Given the description of an element on the screen output the (x, y) to click on. 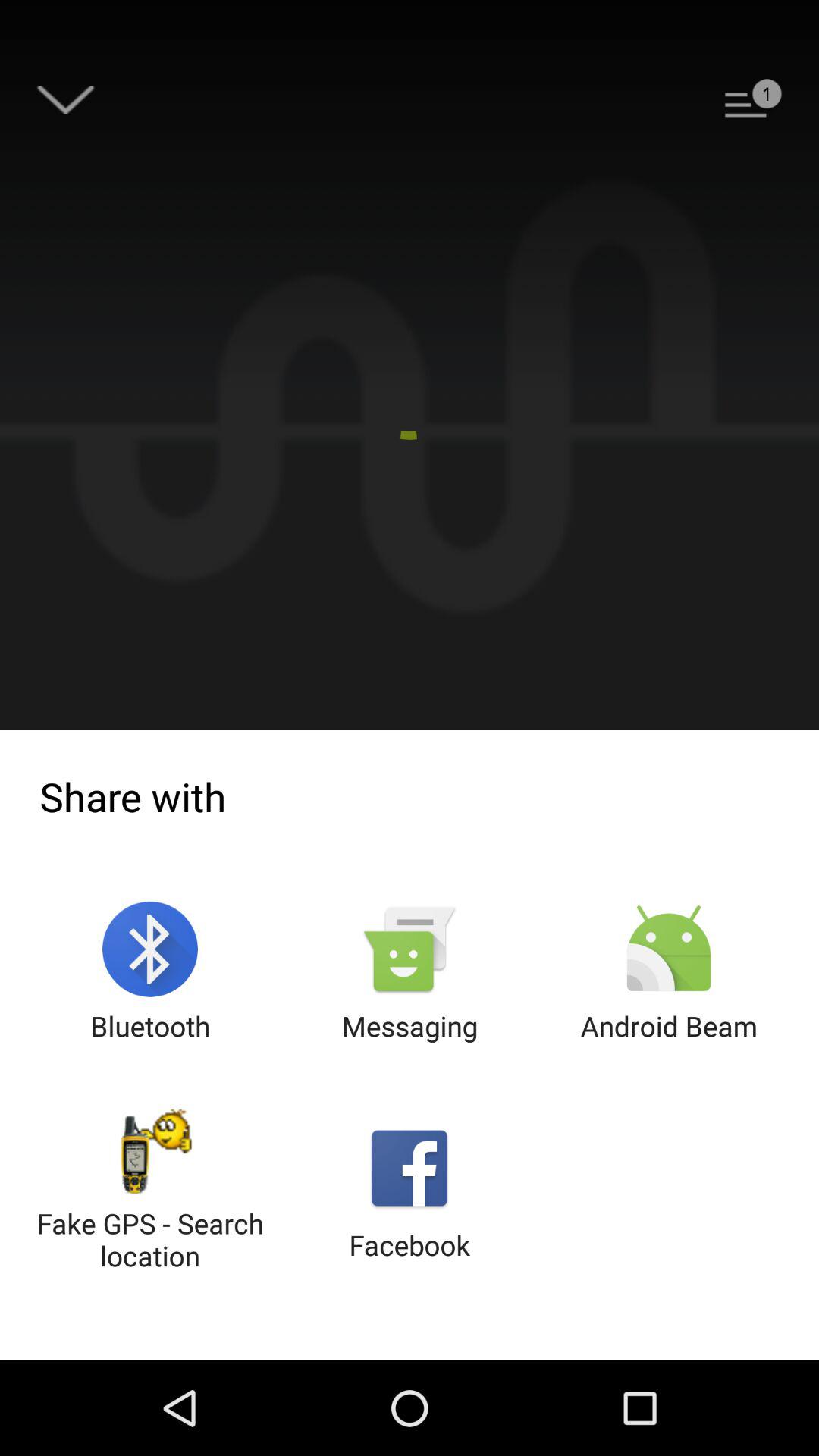
turn off android beam at the bottom right corner (668, 972)
